Given the description of an element on the screen output the (x, y) to click on. 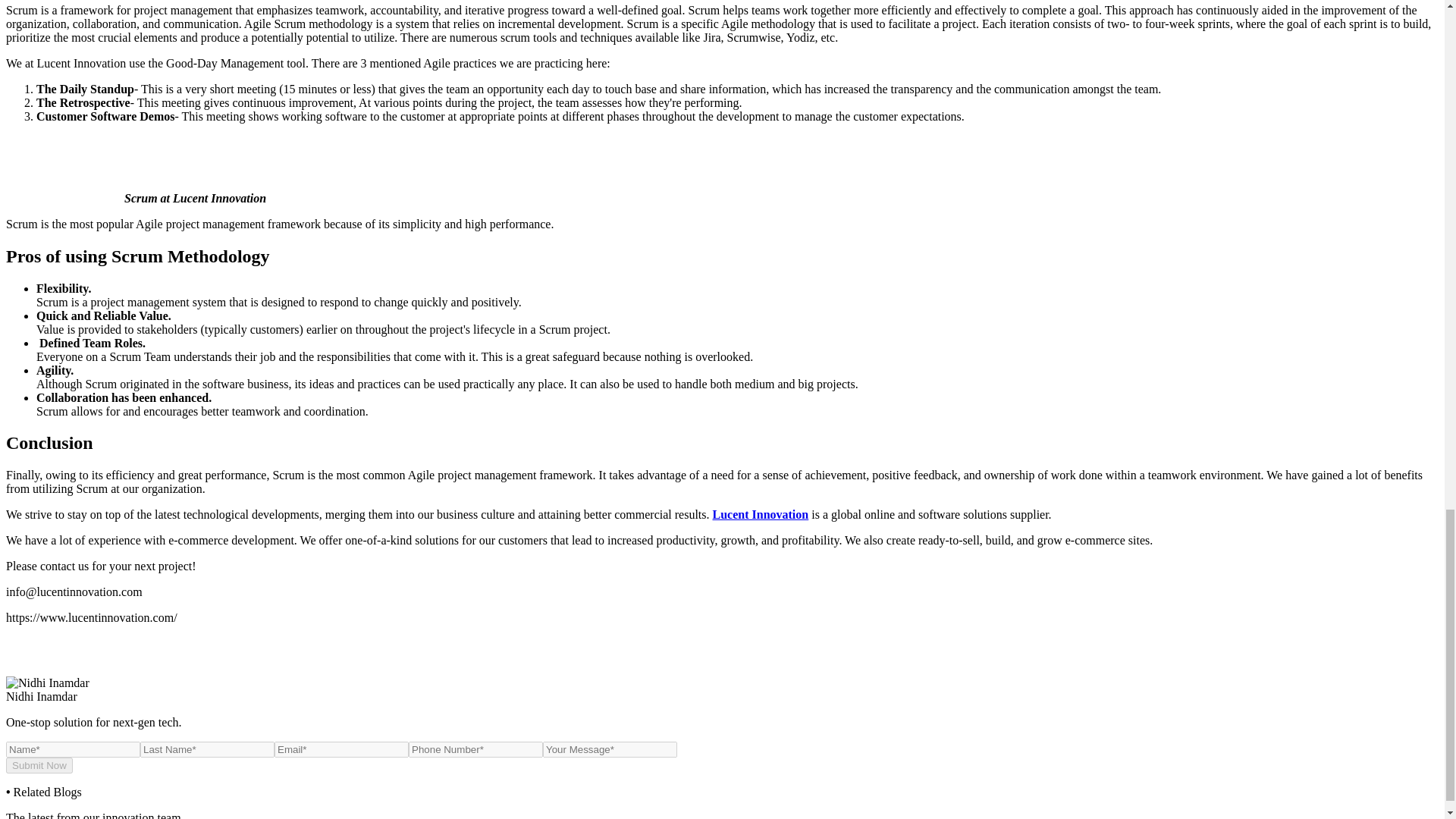
Submit Now (38, 765)
Lucent Innovation (761, 513)
